Given the description of an element on the screen output the (x, y) to click on. 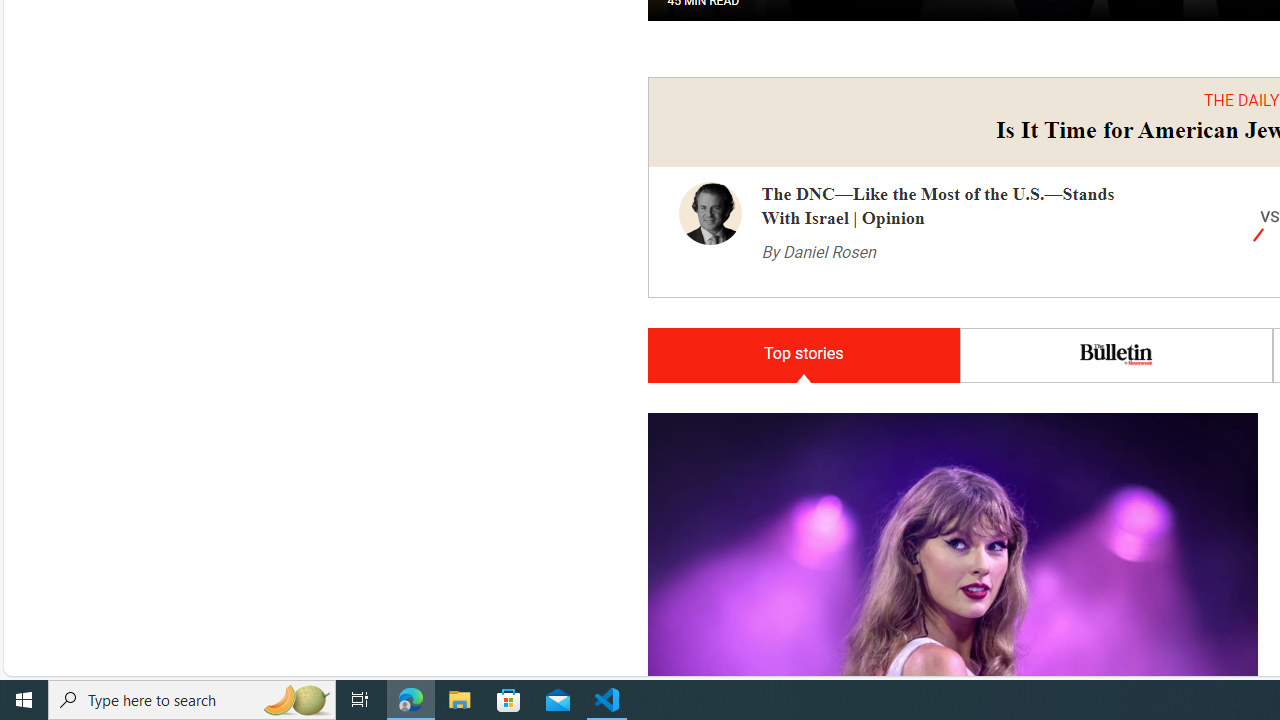
By Daniel Rosen (818, 252)
Top stories (803, 355)
